Given the description of an element on the screen output the (x, y) to click on. 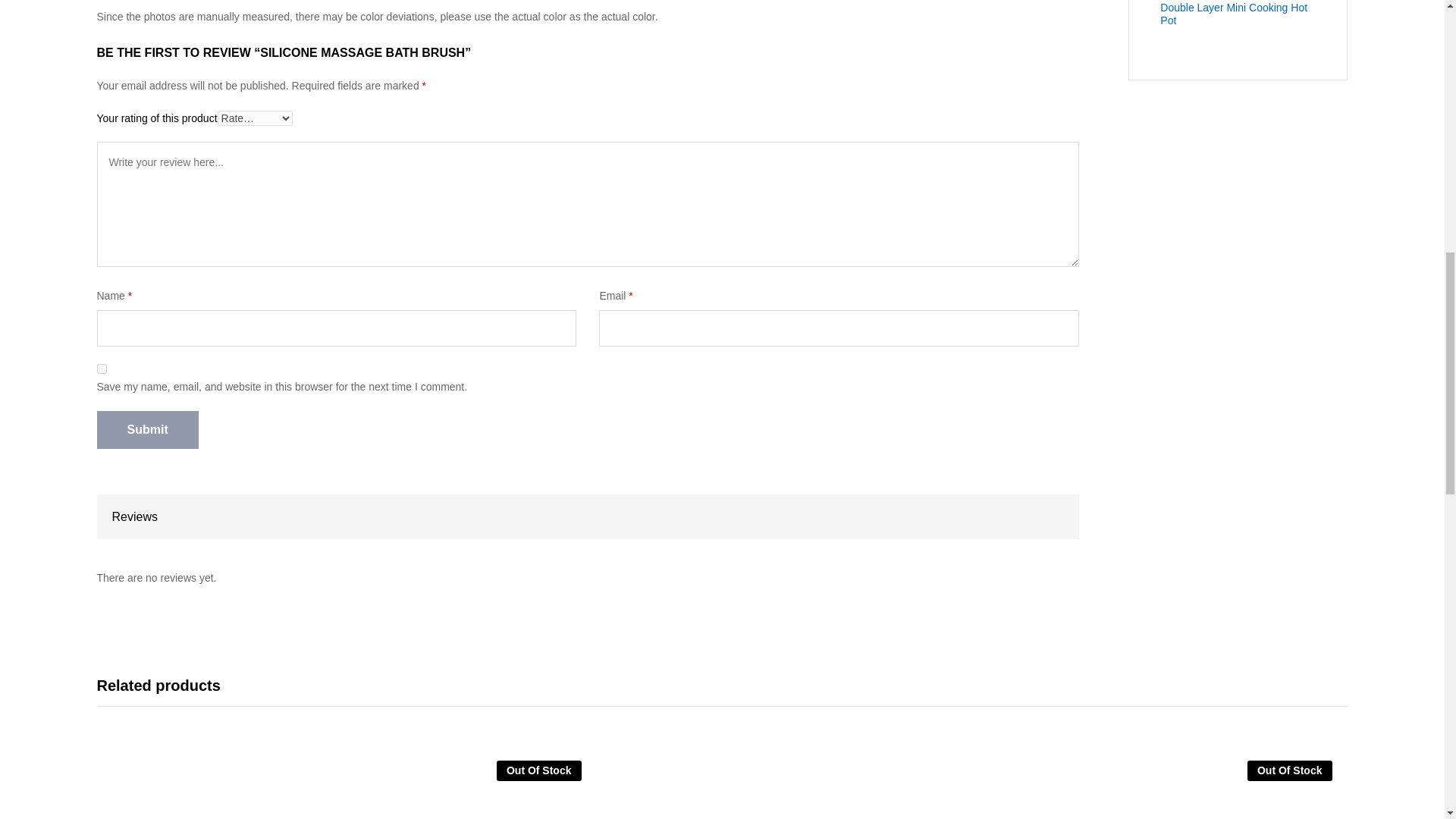
yes (101, 368)
Submit (147, 429)
